Given the description of an element on the screen output the (x, y) to click on. 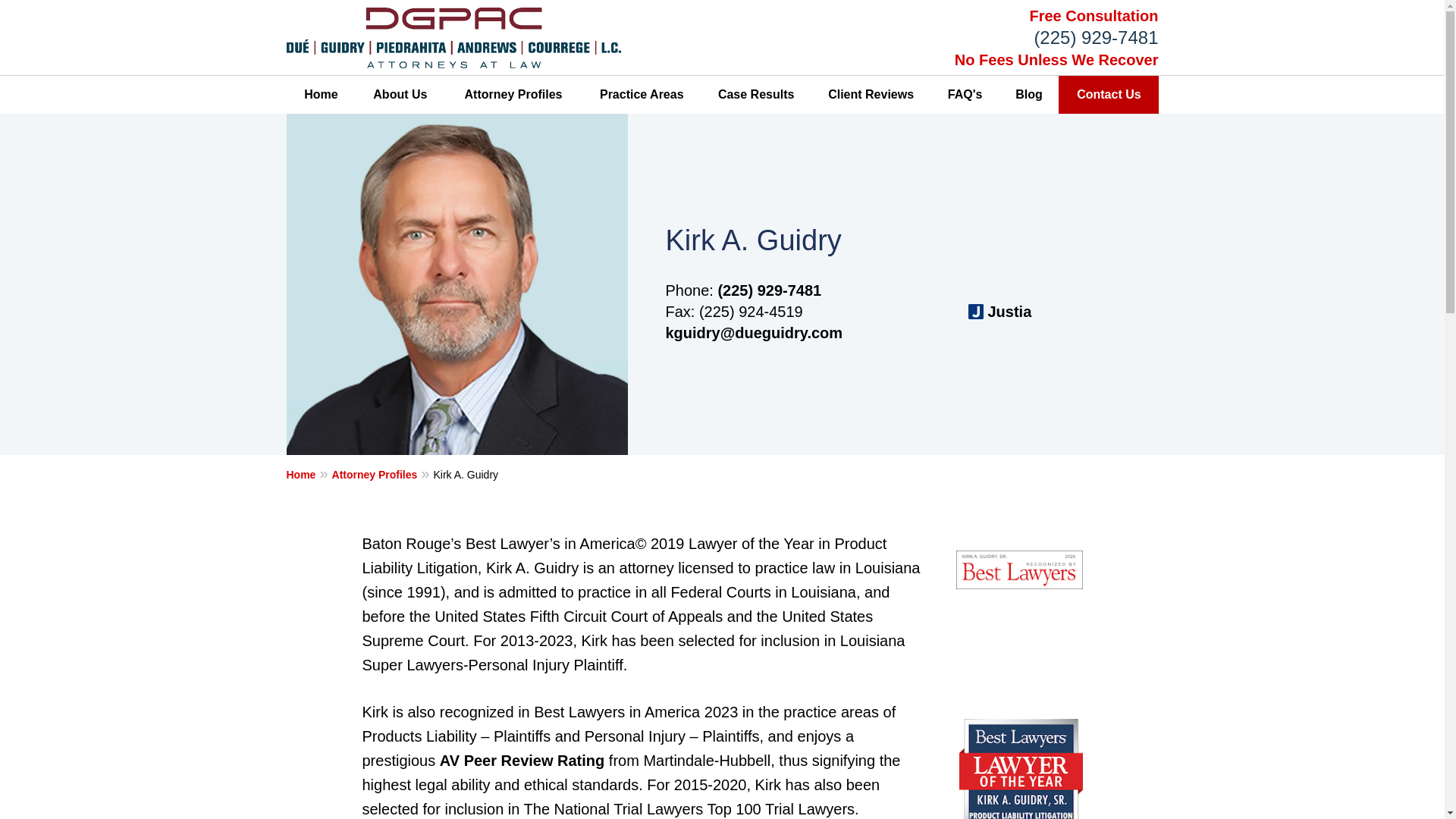
About Us (400, 94)
Case Results (755, 94)
Justia (999, 311)
FAQ's (964, 94)
Attorney Profiles (382, 474)
Home (308, 474)
Home (321, 94)
Practice Areas (640, 94)
Justia (999, 311)
Contact Us (1108, 94)
Attorney Profiles (513, 94)
Blog (1028, 94)
Client Reviews (870, 94)
